Given the description of an element on the screen output the (x, y) to click on. 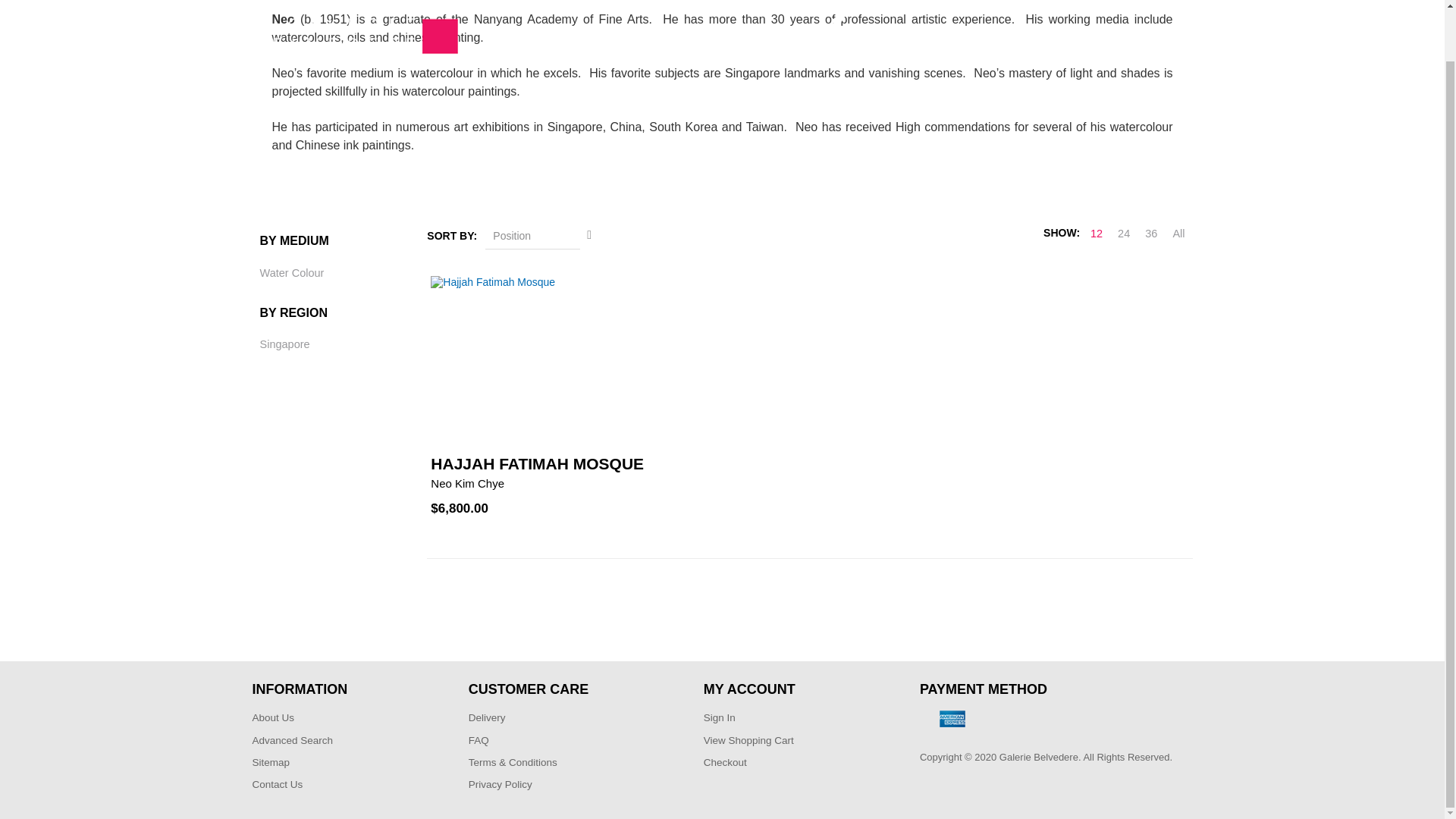
HOME (538, 6)
Go to Home Page (630, 50)
PAINTINGS (685, 6)
PRINTS (762, 6)
ABOUT US (603, 6)
Galerie Belvedere (354, 7)
